Given the description of an element on the screen output the (x, y) to click on. 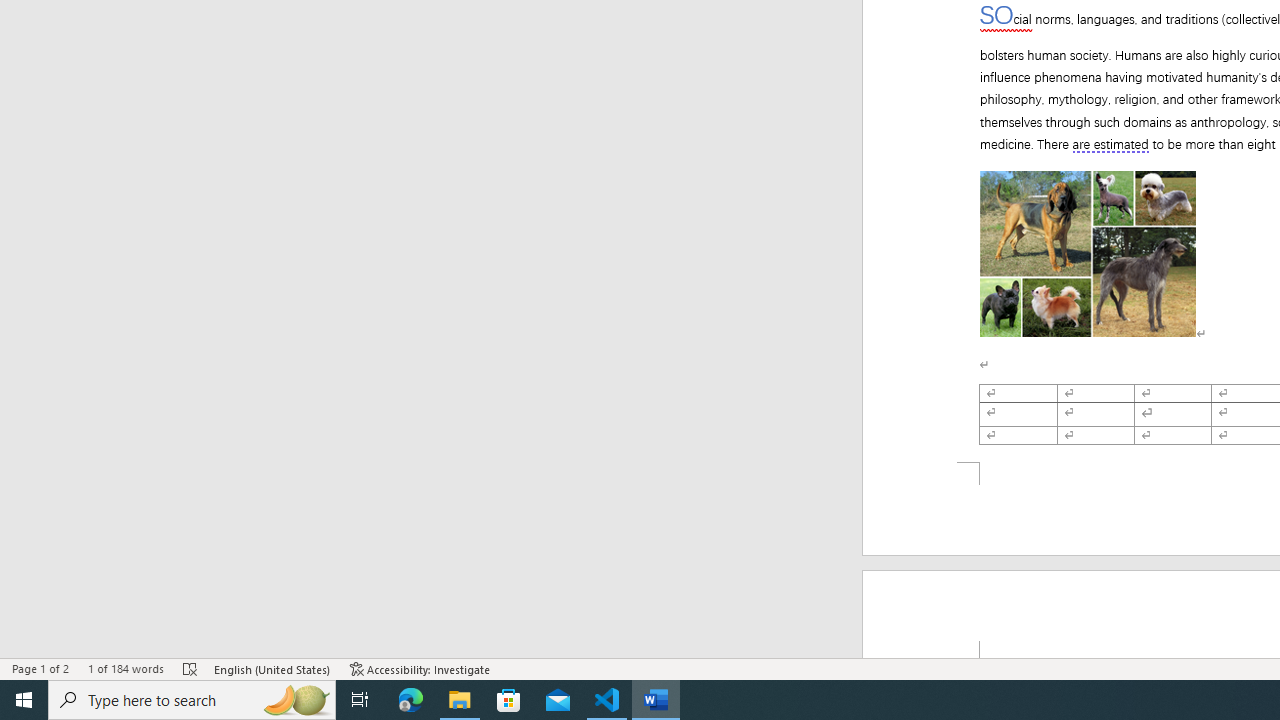
Page Number Page 1 of 2 (39, 668)
